Given the description of an element on the screen output the (x, y) to click on. 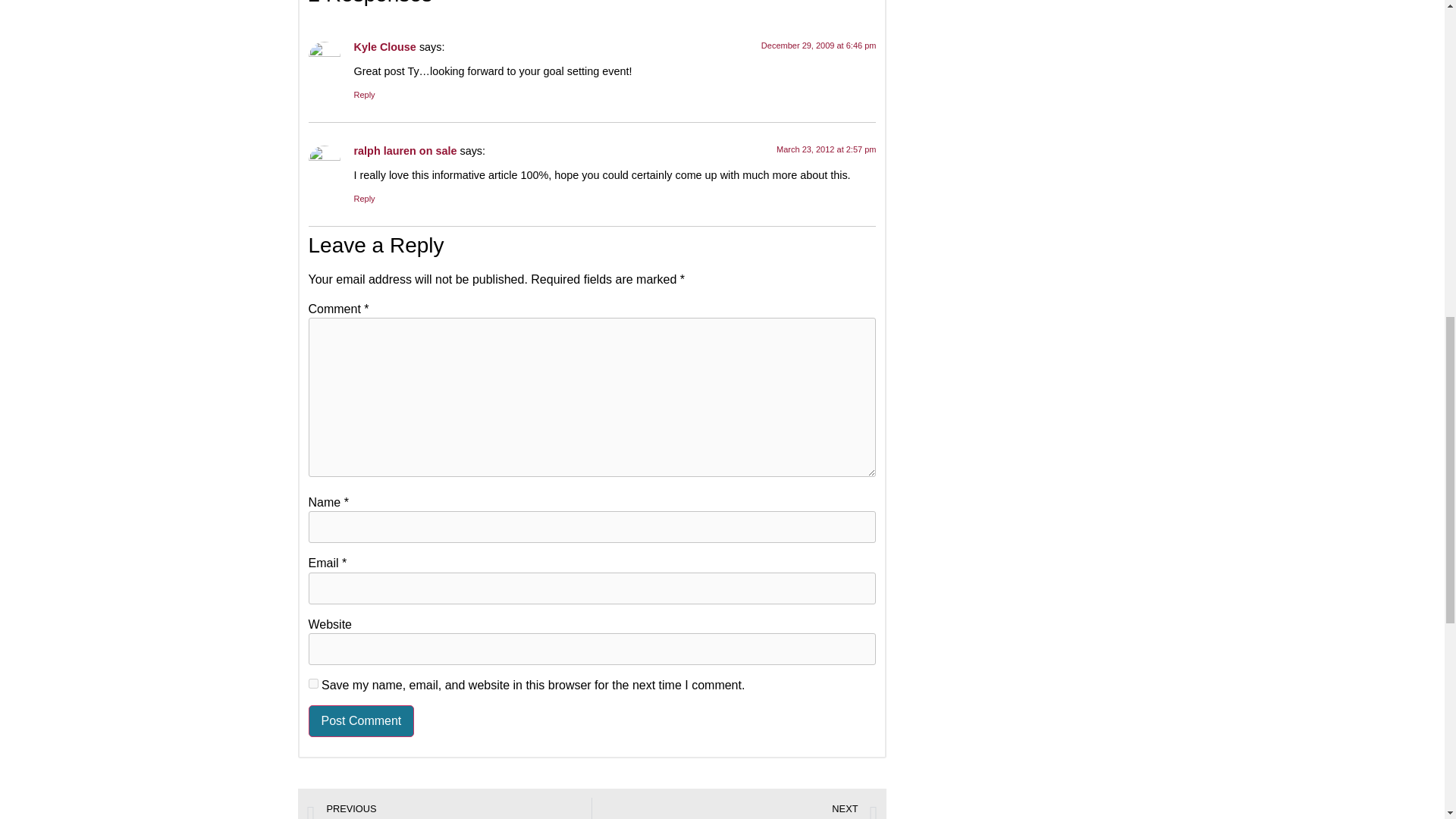
ralph lauren on sale (405, 150)
Kyle Clouse (383, 46)
yes (312, 683)
March 23, 2012 at 2:57 pm (826, 148)
Post Comment (360, 721)
December 29, 2009 at 6:46 pm (818, 44)
Reply (363, 198)
Reply (363, 94)
